Given the description of an element on the screen output the (x, y) to click on. 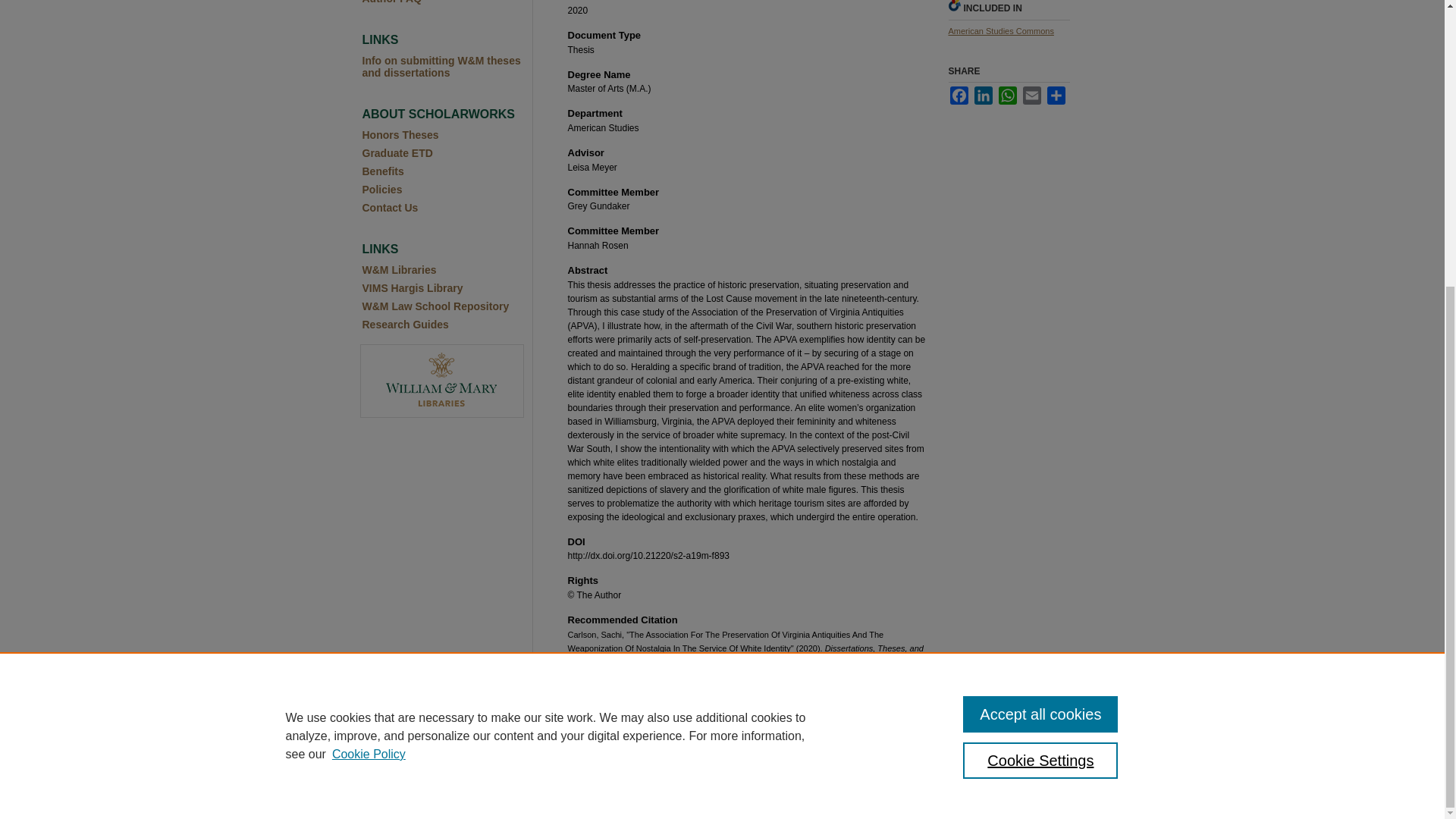
LinkedIn (982, 95)
Share (1055, 95)
Author FAQ (447, 2)
Facebook (958, 95)
WhatsApp (1006, 95)
Author FAQ (447, 2)
American Studies Commons (999, 31)
American Studies Commons (999, 31)
Honors Theses (447, 134)
Email (1031, 95)
